Given the description of an element on the screen output the (x, y) to click on. 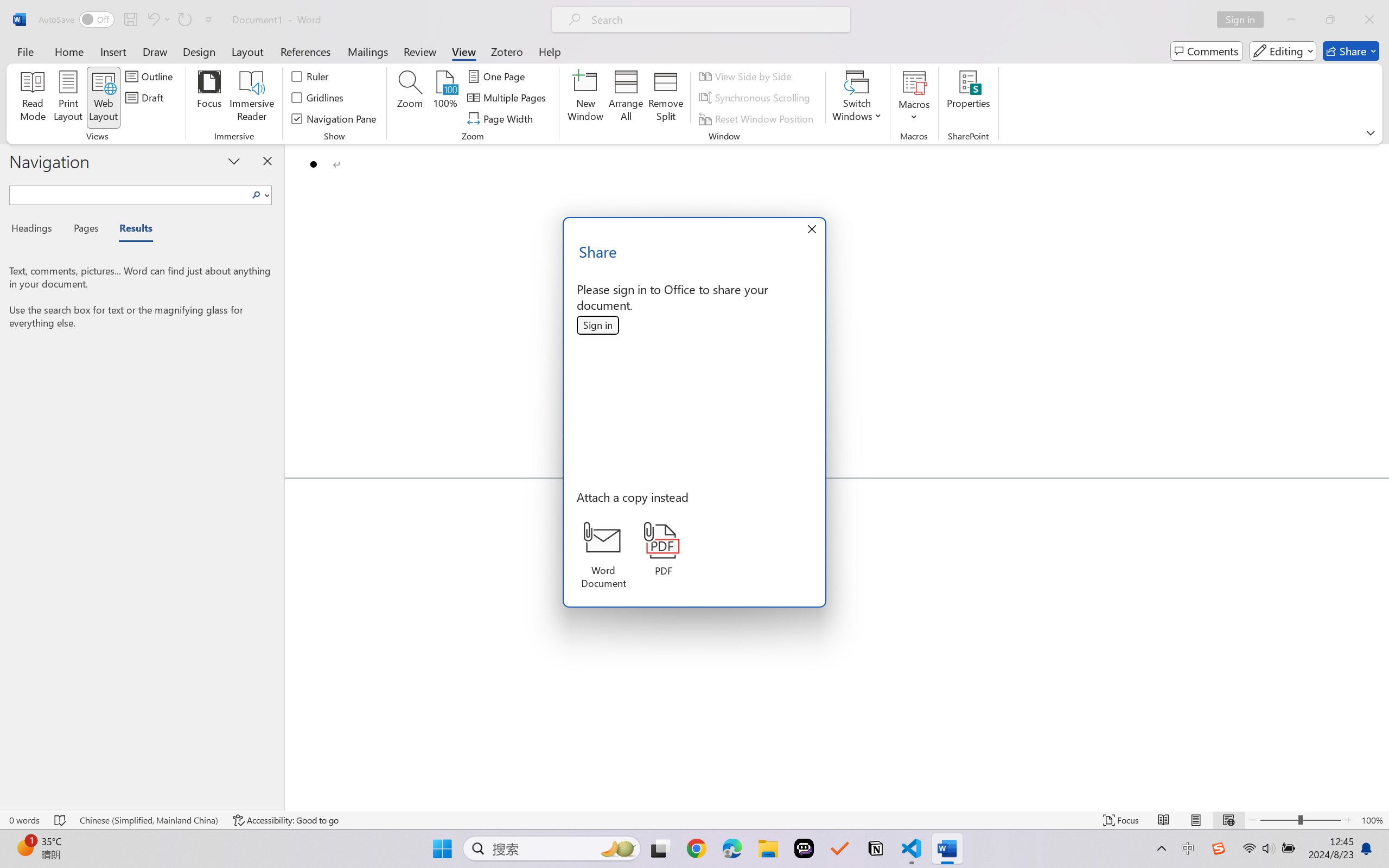
Word Document (603, 555)
One Page (497, 75)
Navigation Pane (334, 118)
Remove Split (665, 97)
Multiple Pages (507, 97)
Results (130, 229)
